Given the description of an element on the screen output the (x, y) to click on. 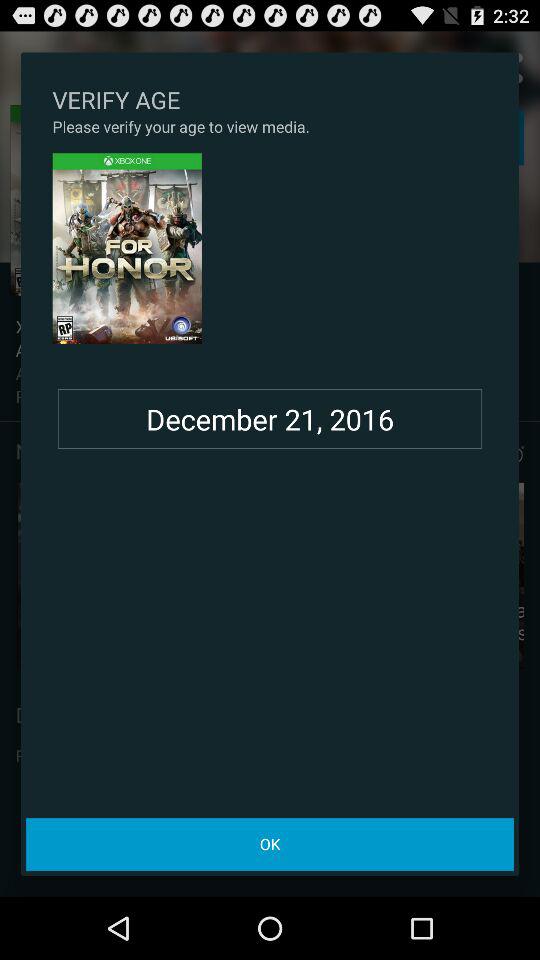
select the december 21, 2016 at the center (269, 419)
